Given the description of an element on the screen output the (x, y) to click on. 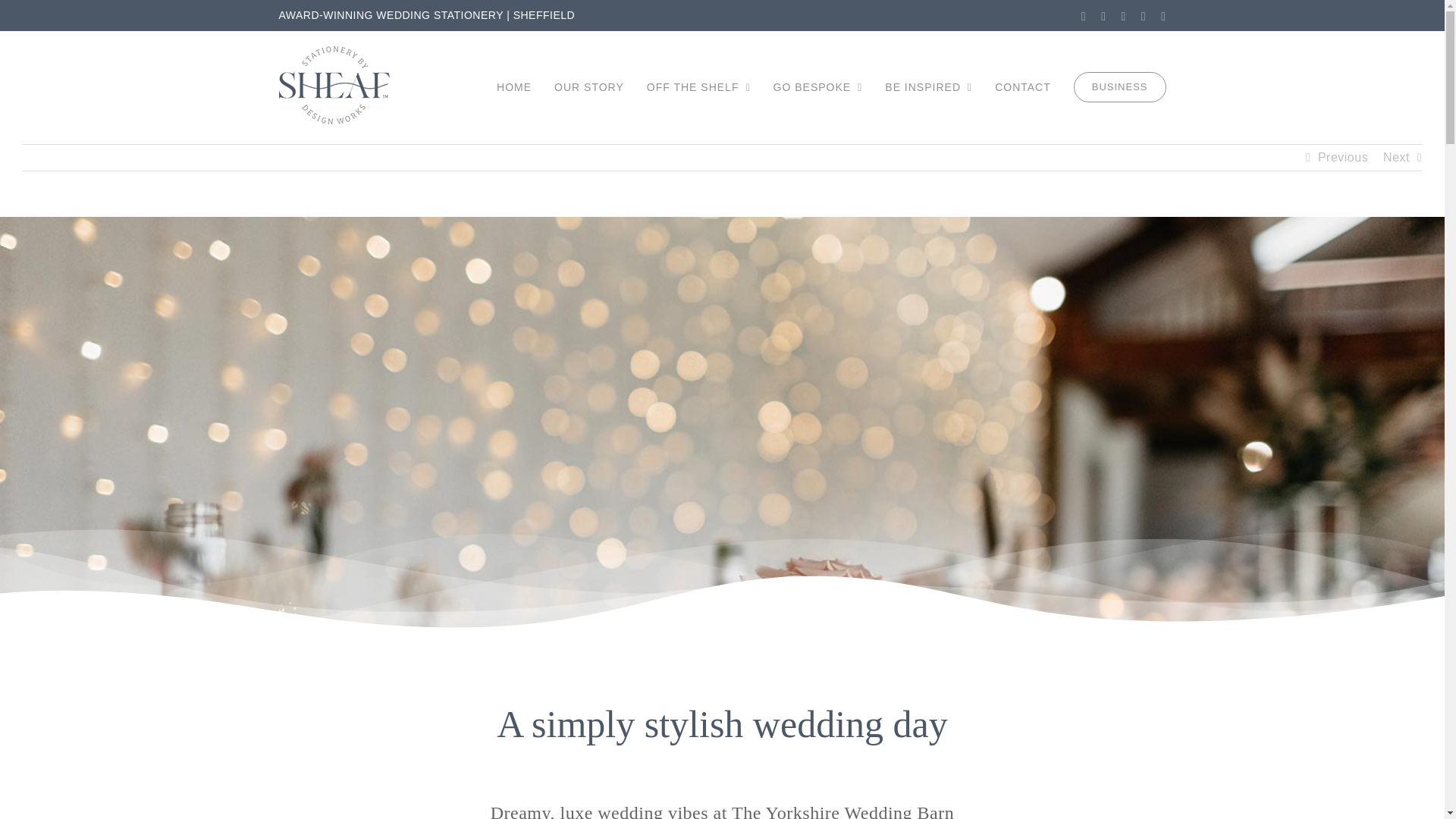
Instagram (1083, 16)
Pinterest (1123, 16)
OUR STORY (589, 87)
Facebook (1102, 16)
Instagram (1083, 16)
BE INSPIRED (928, 87)
HOME (513, 87)
Email (1163, 16)
OFF THE SHELF (698, 87)
CONTACT (1022, 87)
Pinterest (1123, 16)
Facebook (1102, 16)
LinkedIn (1143, 16)
GO BESPOKE (818, 87)
LinkedIn (1143, 16)
